Given the description of an element on the screen output the (x, y) to click on. 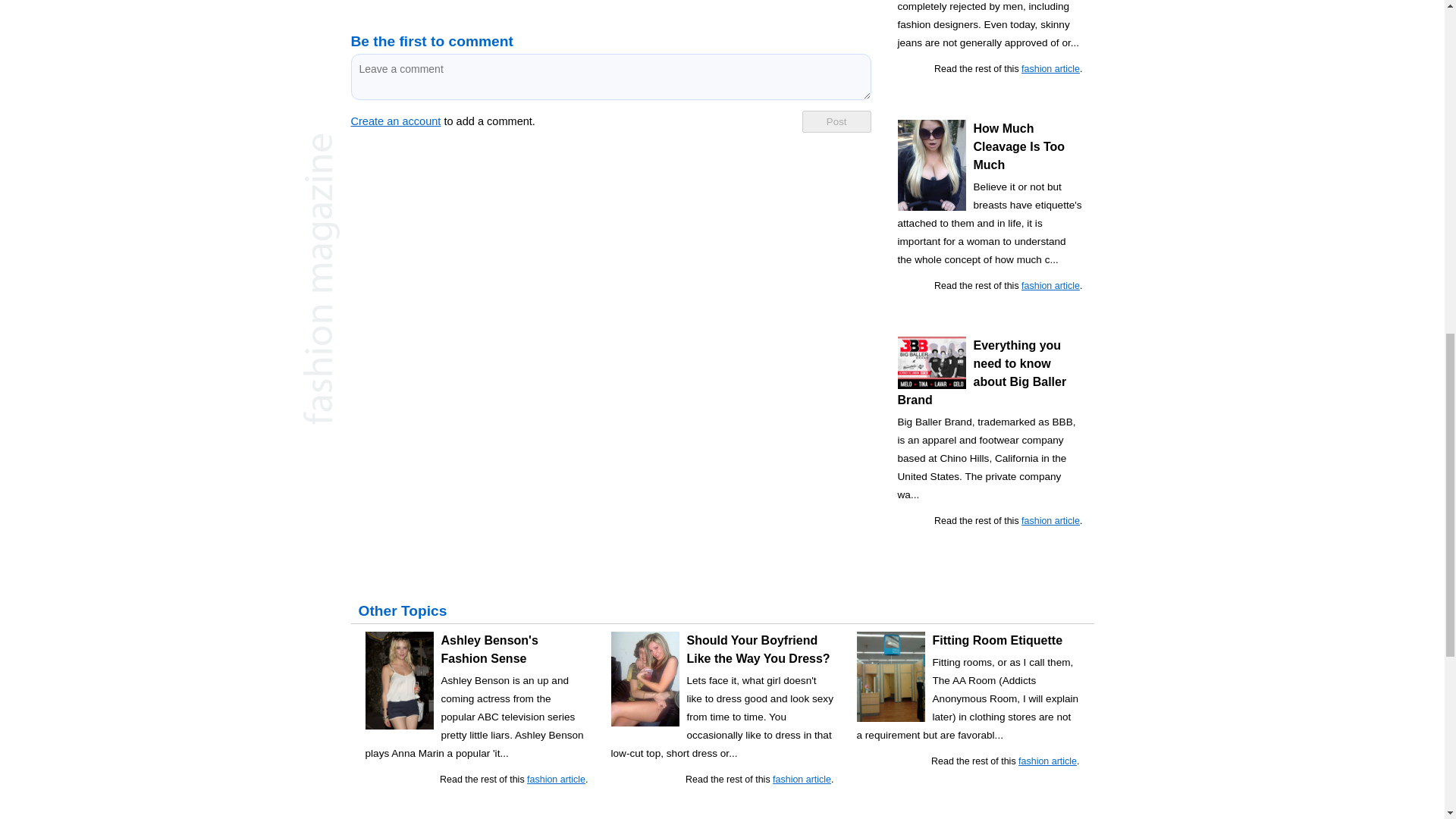
fashion article (556, 778)
fashion article (1051, 520)
Create an account (395, 121)
fashion article (1051, 285)
fashion article (1051, 68)
Post (836, 121)
